Given the description of an element on the screen output the (x, y) to click on. 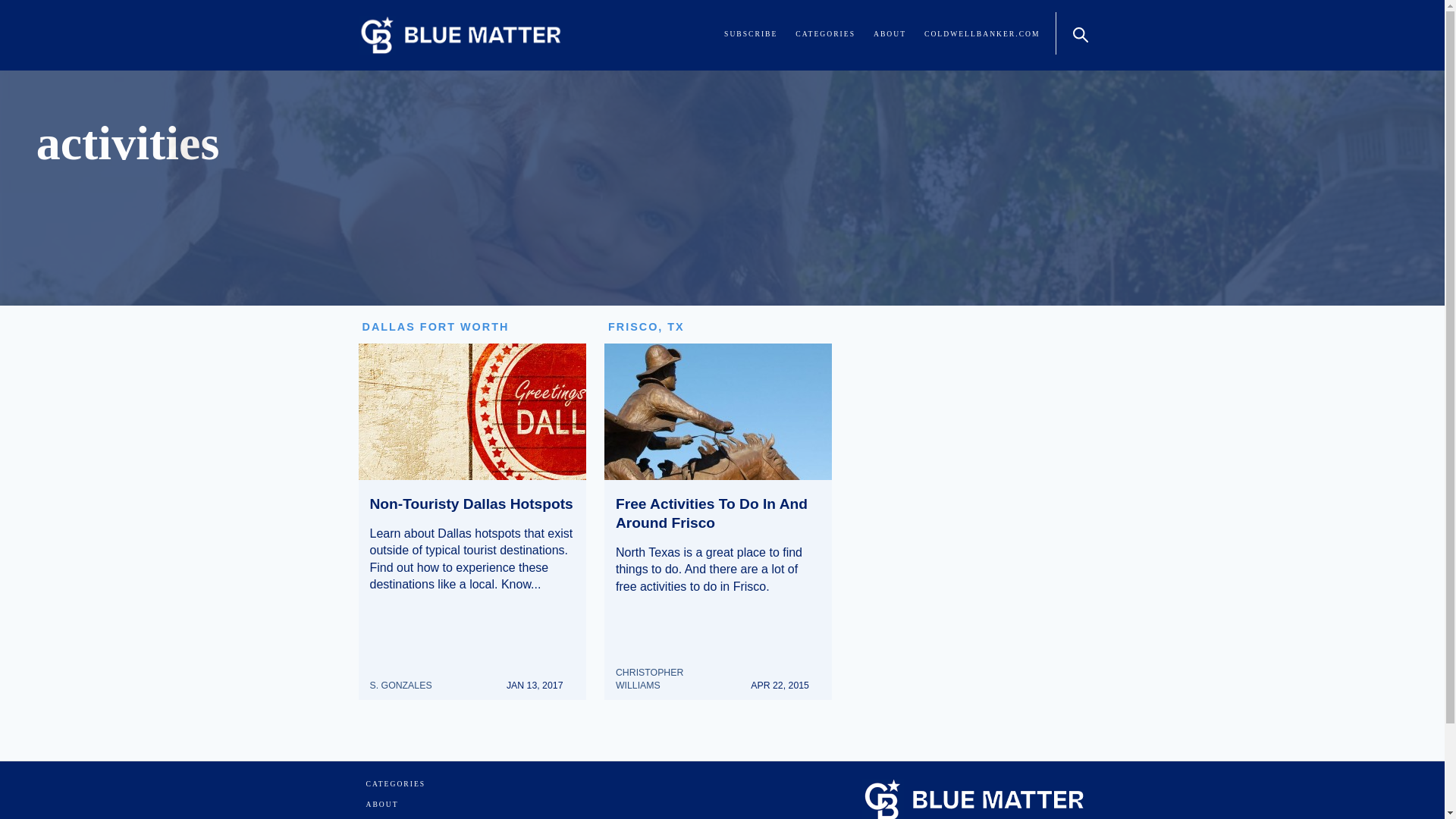
Posts by S. Gonzales (406, 678)
ABOUT (381, 804)
CATEGORIES (395, 783)
COLDWELLBANKER.COM (981, 33)
CHRISTOPHER WILLIAMS (672, 671)
Posts by Christopher Williams (672, 671)
SUBSCRIBE (750, 33)
Non-Touristy Dallas Hotspots (471, 503)
DALLAS FORT WORTH (435, 326)
ABOUT (889, 33)
S. GONZALES (406, 678)
FRISCO, TX (646, 326)
CATEGORIES (825, 33)
Free Activities To Do In And Around Frisco (711, 513)
Search (1078, 33)
